Given the description of an element on the screen output the (x, y) to click on. 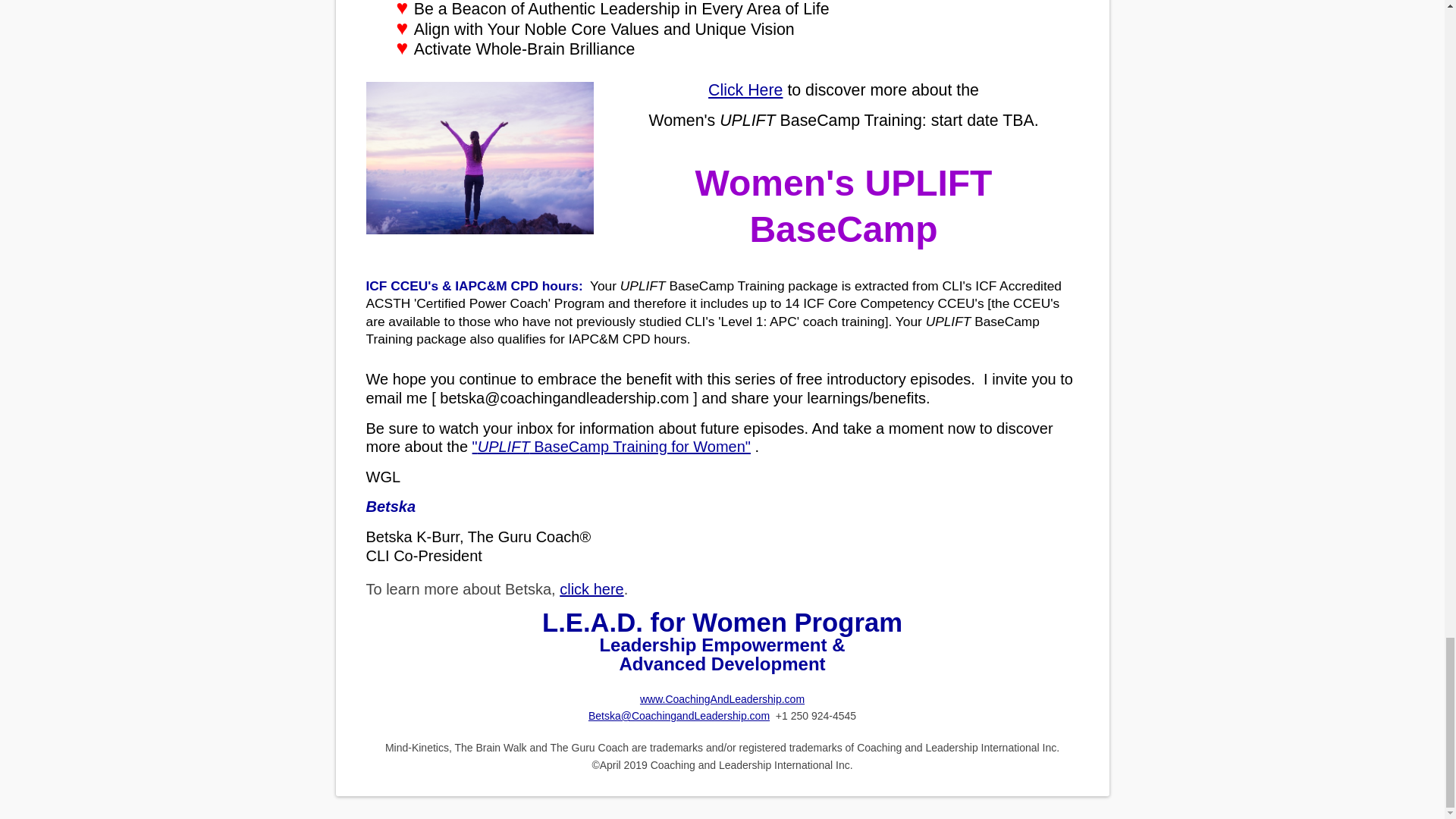
Click Here (745, 90)
www.CoachingAndLeadership.com (722, 698)
click here (591, 588)
"UPLIFT BaseCamp Training for Women" (611, 446)
